Given the description of an element on the screen output the (x, y) to click on. 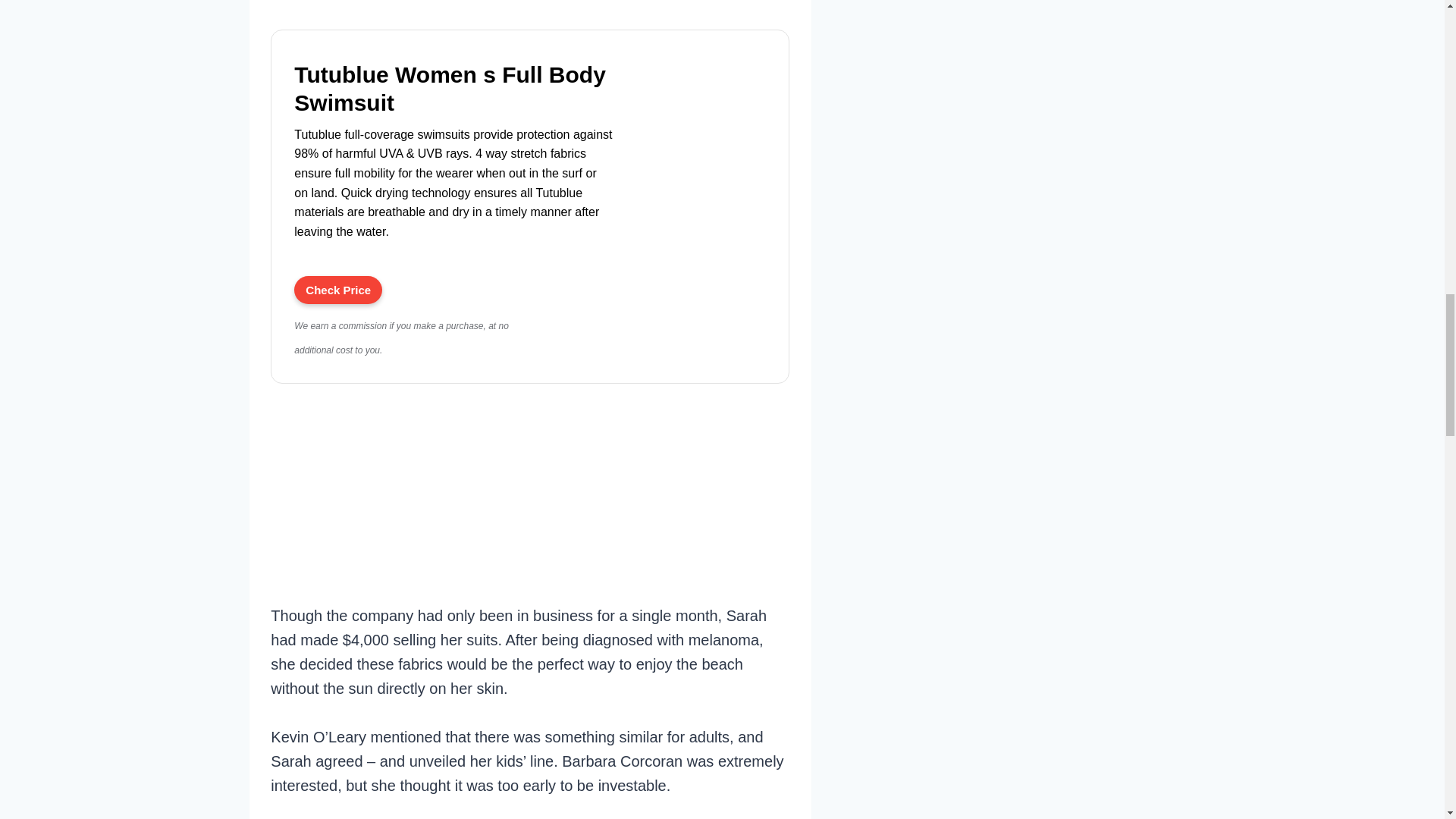
Tutublue Women s Full Body Swimsuit (453, 88)
Tutublue Women s Full Body Swimsuit (699, 180)
Tutublue Women s Full Body Swimsuit (337, 289)
Tutublue Women s Full Body Swimsuit (453, 88)
